Given the description of an element on the screen output the (x, y) to click on. 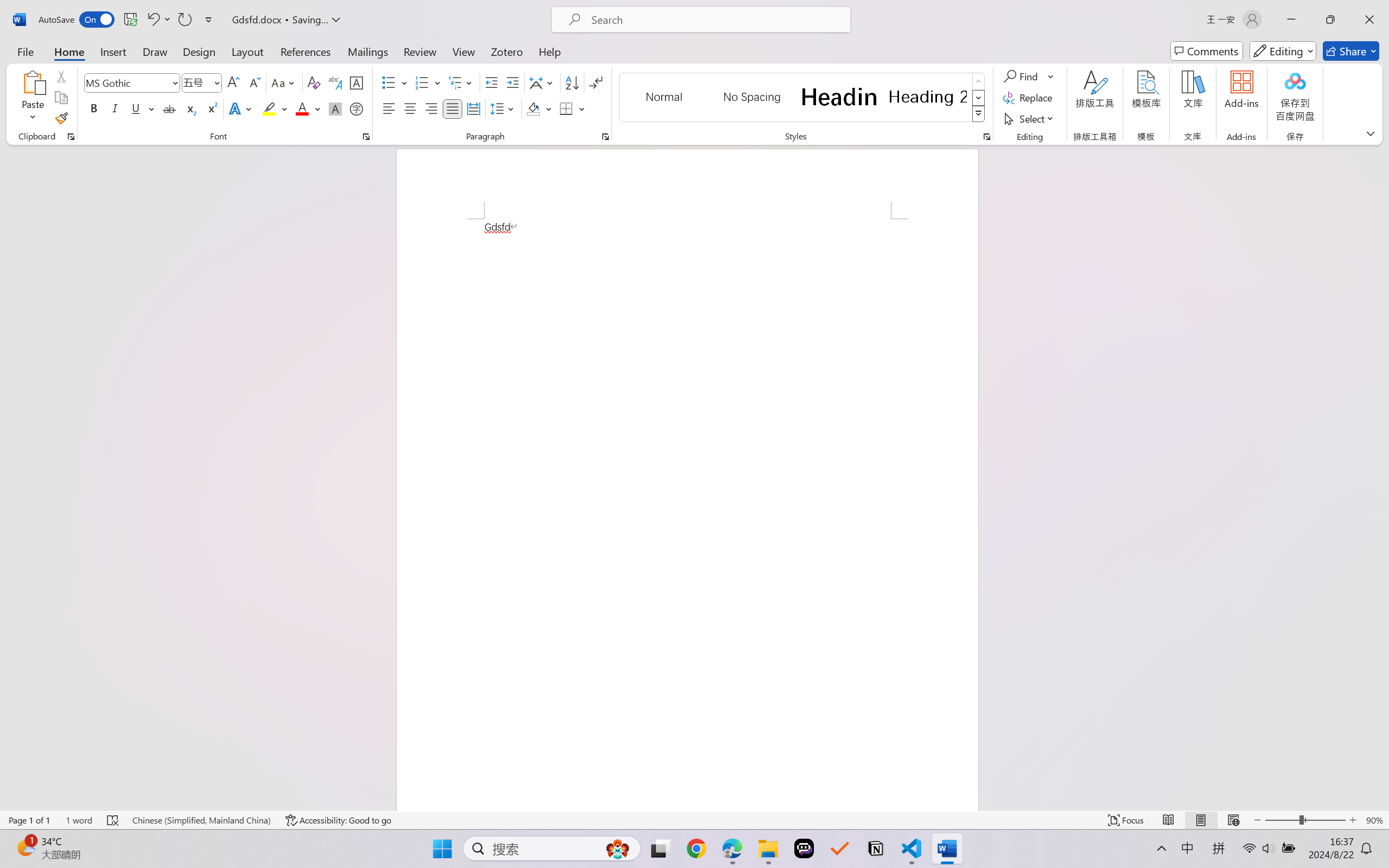
Select (1030, 118)
Font... (365, 136)
Phonetic Guide... (334, 82)
Align Right (431, 108)
Multilevel List (461, 82)
Enclose Characters... (356, 108)
